Given the description of an element on the screen output the (x, y) to click on. 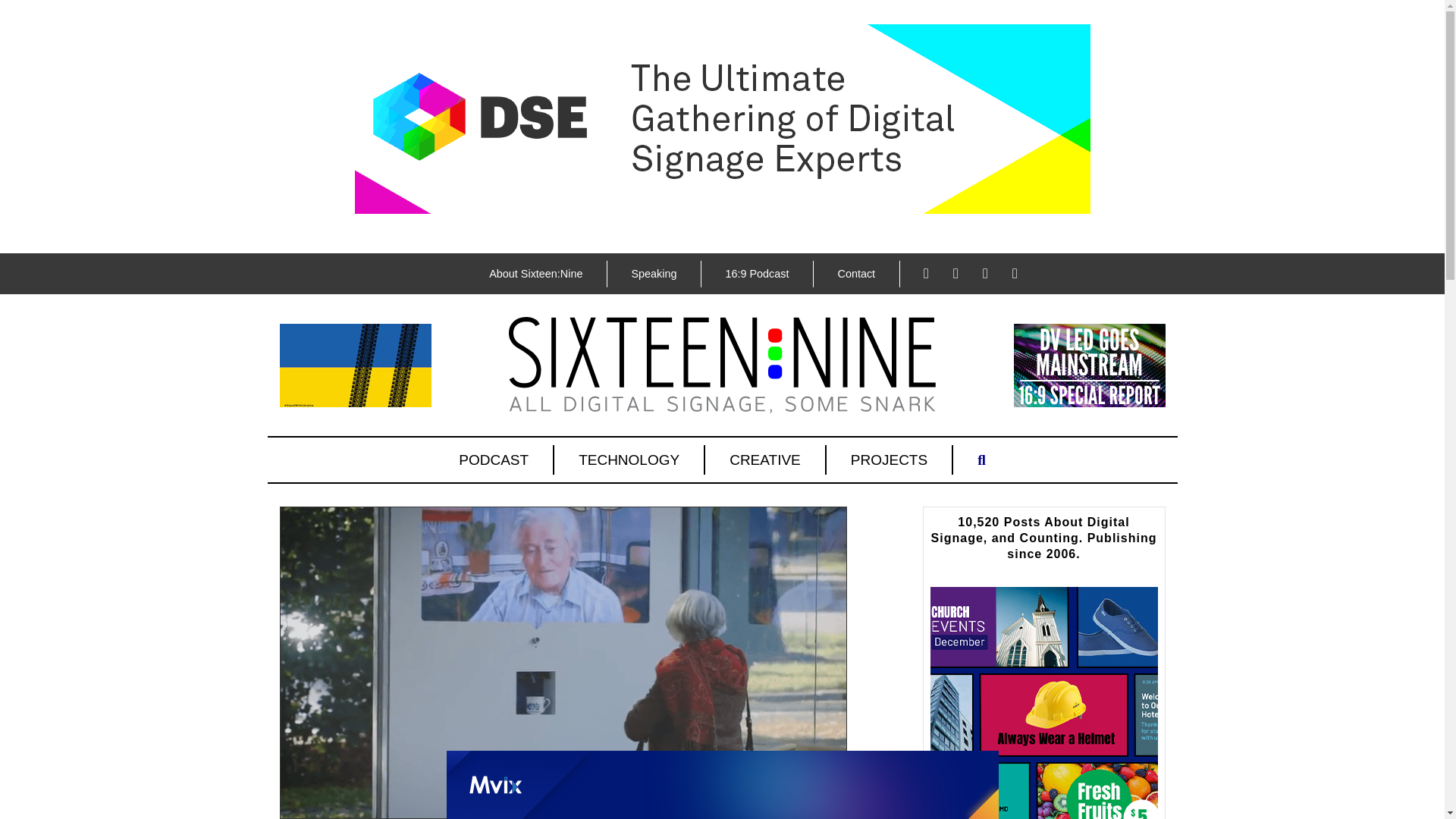
Speaking (653, 273)
TECHNOLOGY (629, 460)
CREATIVE (765, 460)
16:9 Podcast (756, 273)
PROJECTS (890, 460)
PODCAST (493, 460)
About Sixteen:Nine (535, 273)
Contact (855, 273)
